Given the description of an element on the screen output the (x, y) to click on. 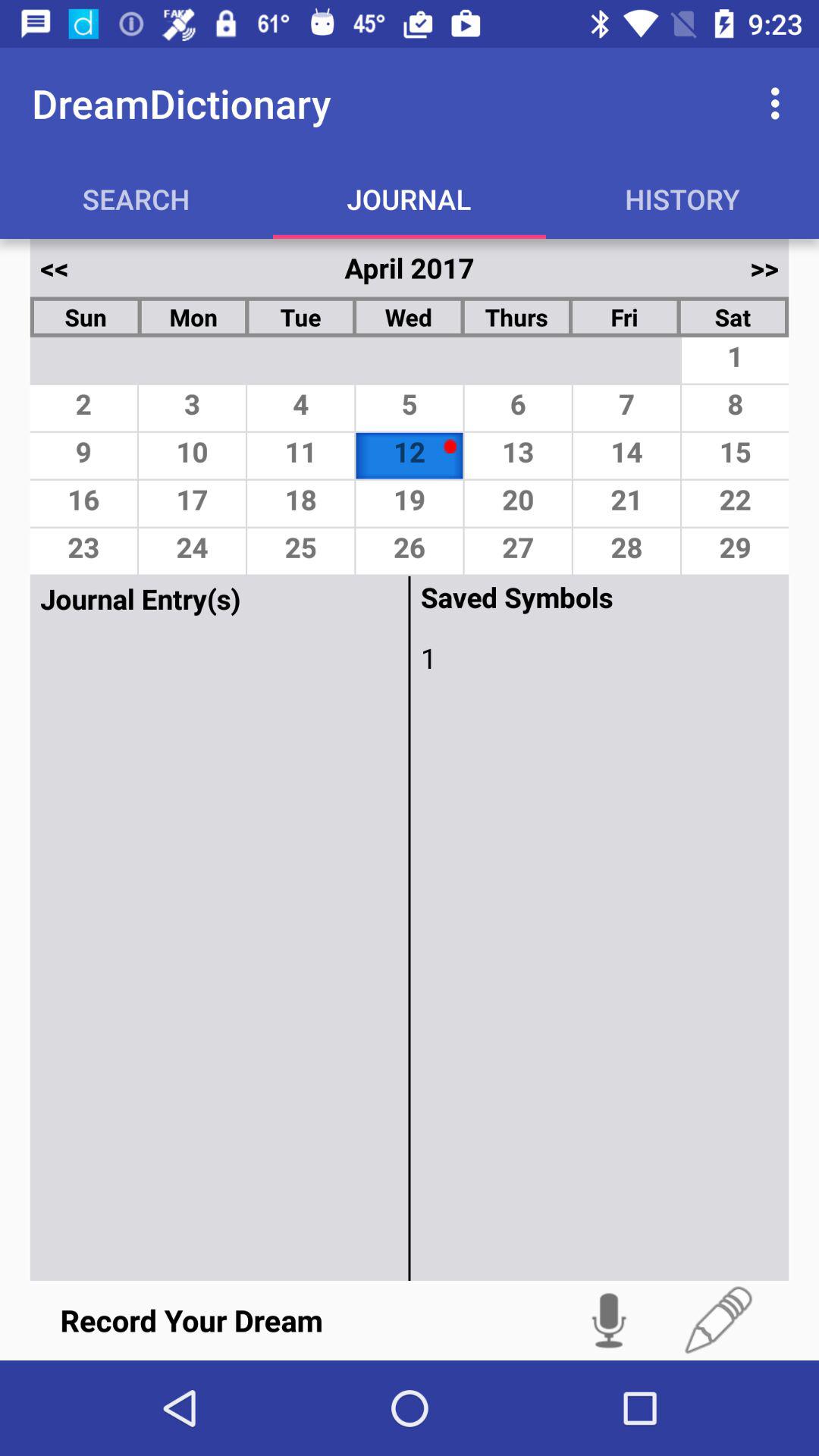
turn off the item above the history (779, 103)
